Given the description of an element on the screen output the (x, y) to click on. 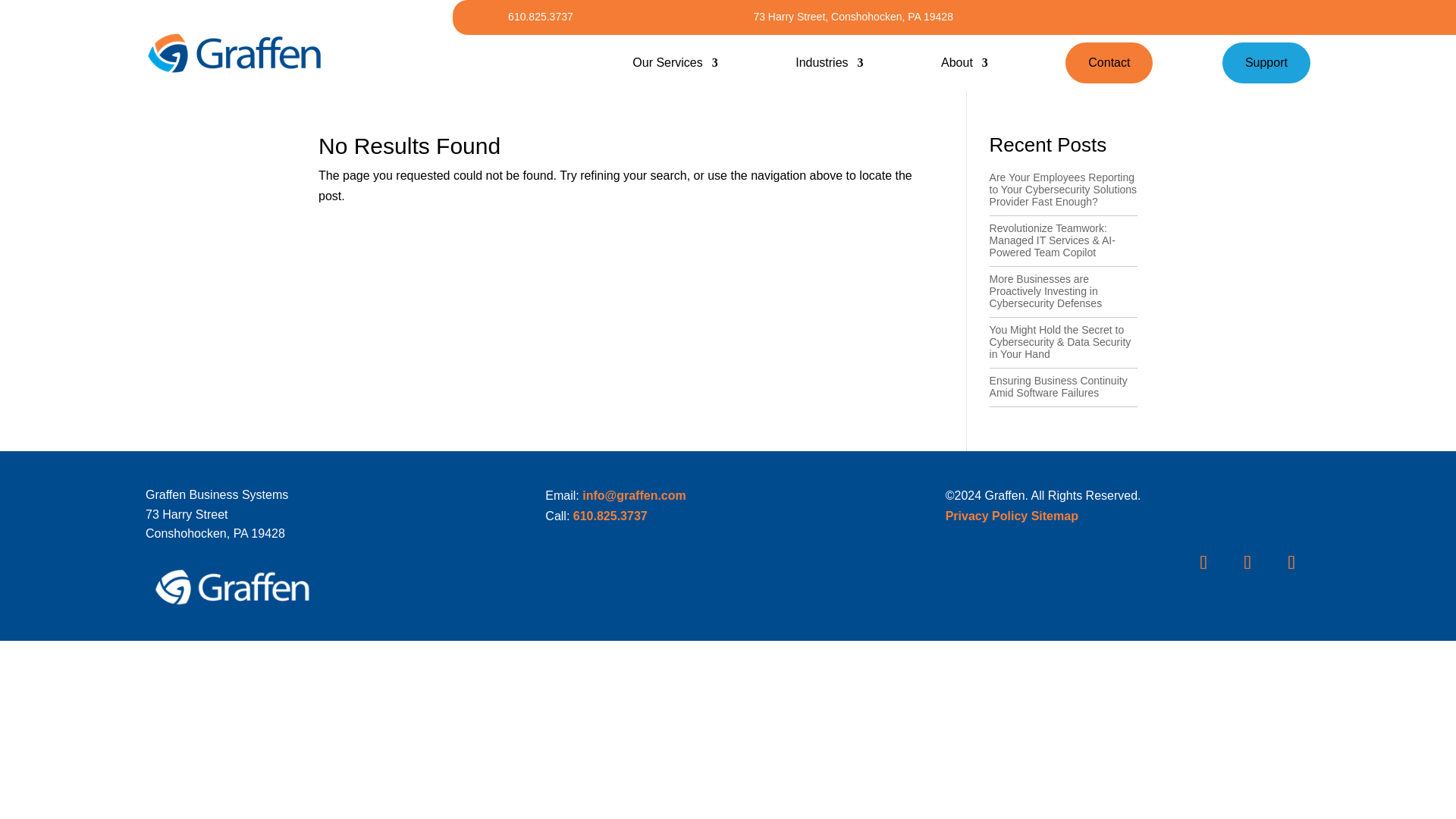
73 Harry Street, Conshohocken, PA 19428 (852, 16)
Our Services (674, 62)
Graffen-Logo (234, 53)
Follow on Facebook (1247, 562)
Graffen-Logo (232, 587)
Support (1266, 62)
610.825.3737 (540, 16)
Follow on X (1291, 562)
Follow on LinkedIn (1204, 562)
Contact (1109, 62)
